Given the description of an element on the screen output the (x, y) to click on. 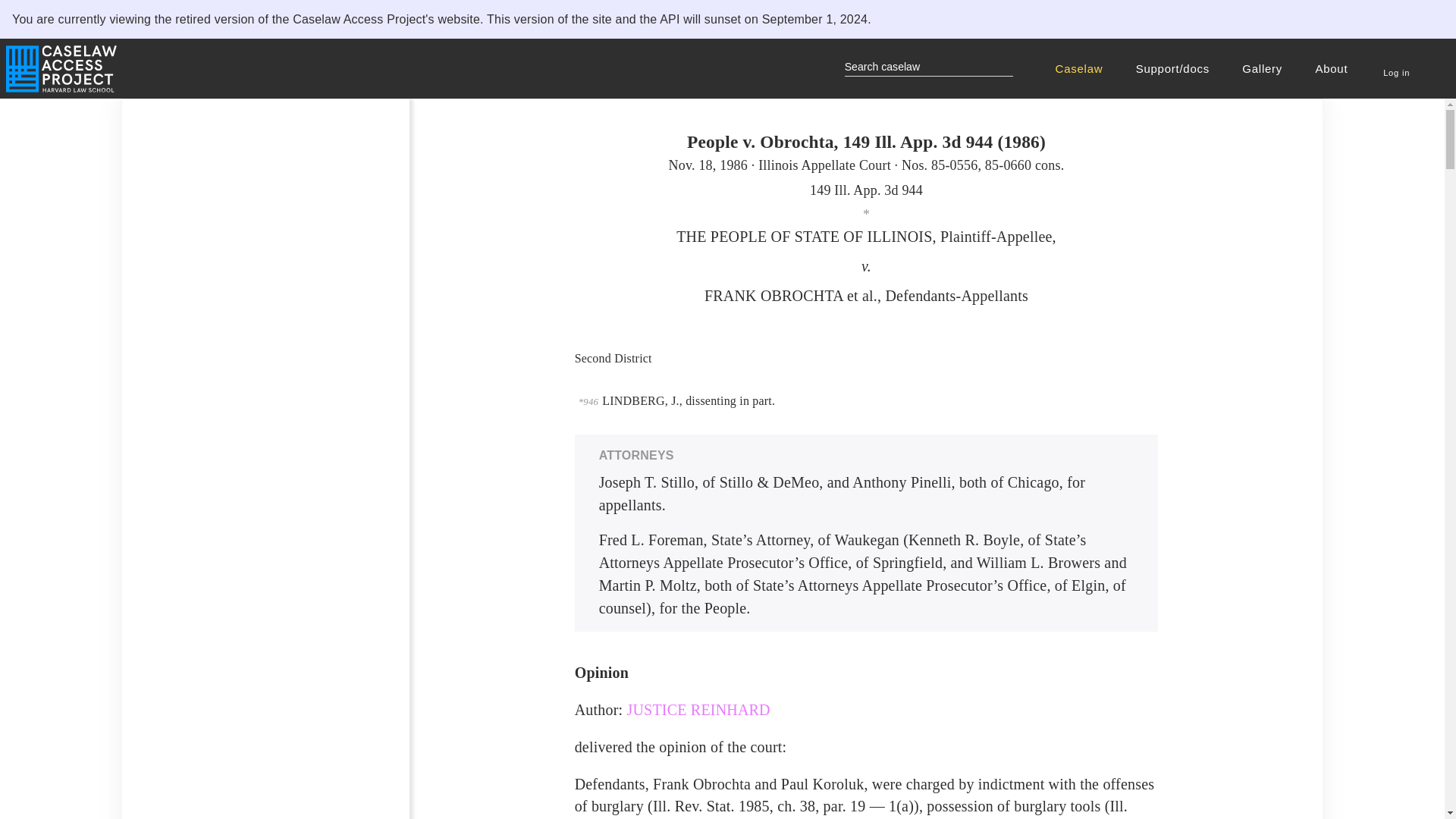
Caselaw (1081, 68)
About (1332, 68)
Log in (1396, 64)
Gallery (1264, 68)
